Given the description of an element on the screen output the (x, y) to click on. 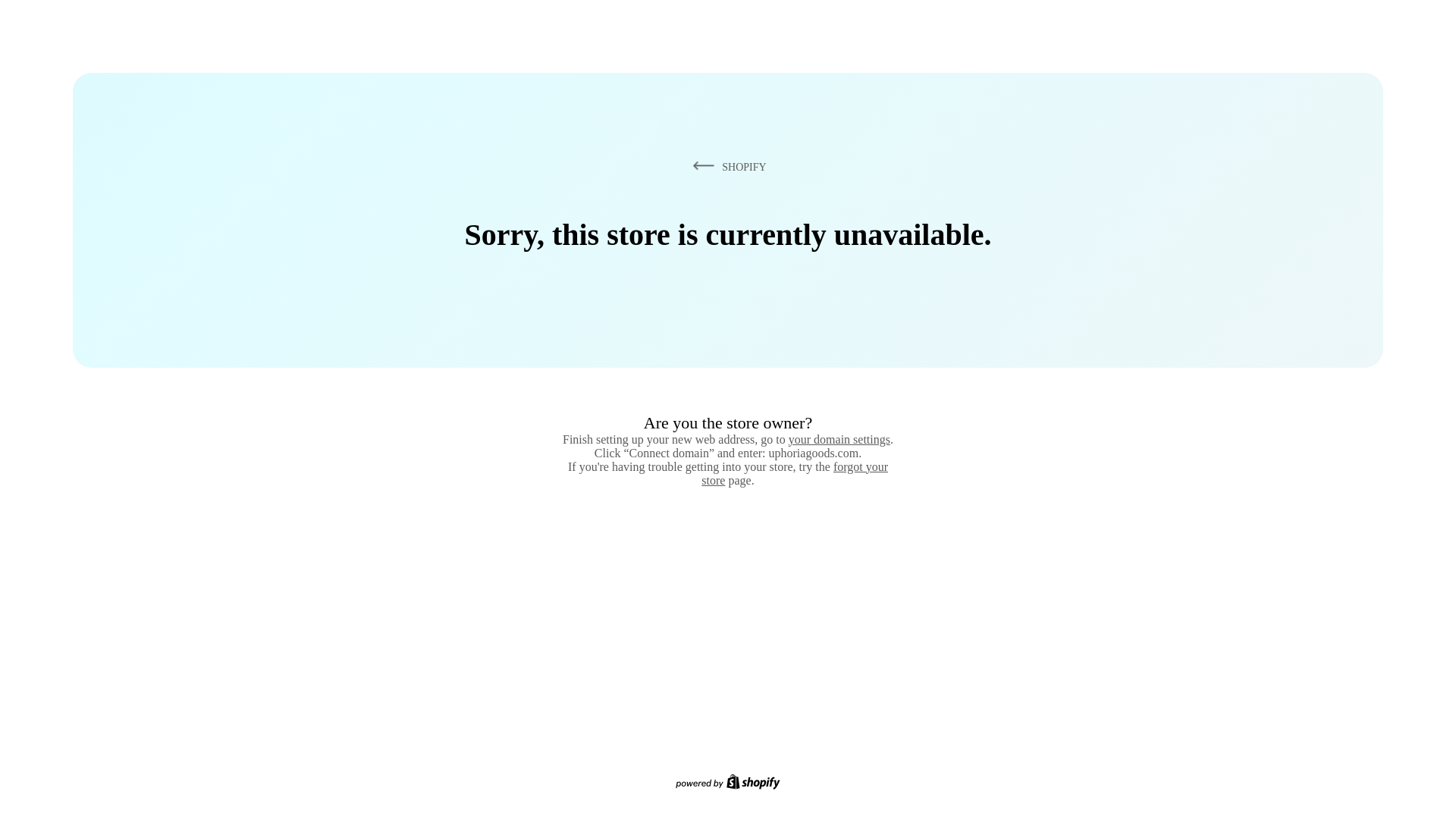
your domain settings (839, 439)
SHOPIFY (726, 166)
forgot your store (794, 473)
